Given the description of an element on the screen output the (x, y) to click on. 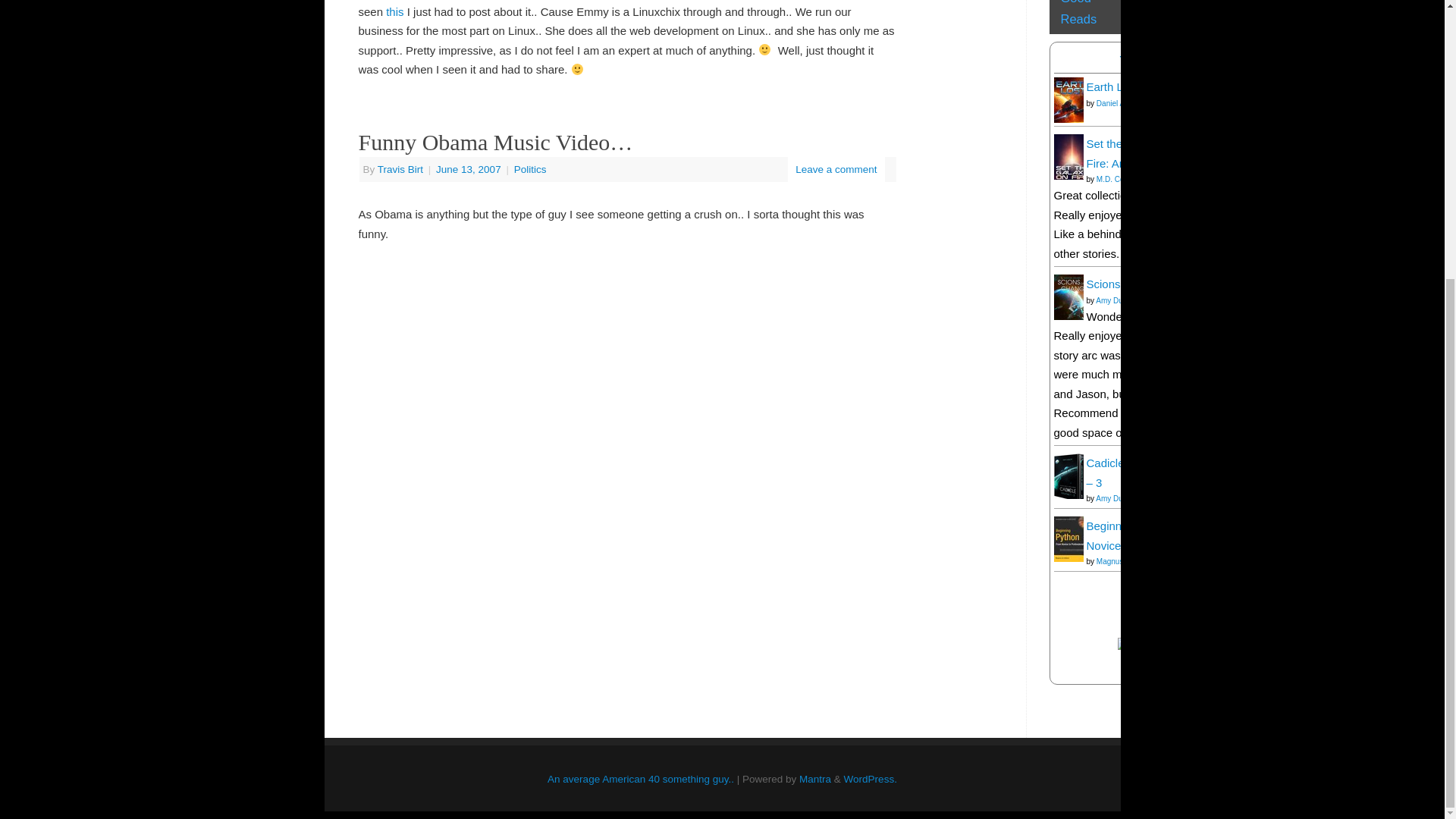
Travis's books (1163, 61)
June 13, 2007 (469, 169)
View all posts by Travis Birt (400, 169)
Leave a comment (835, 169)
Daniel Arenson (1122, 103)
Set the Galaxy on Fire: An Aeon 14 Anthology (1154, 153)
Politics (530, 169)
this (393, 11)
Linuxchix.org (393, 11)
Travis Birt (400, 169)
9:56 pm (469, 169)
M.D. Cooper (1118, 179)
Earth Lost (1111, 86)
